Given the description of an element on the screen output the (x, y) to click on. 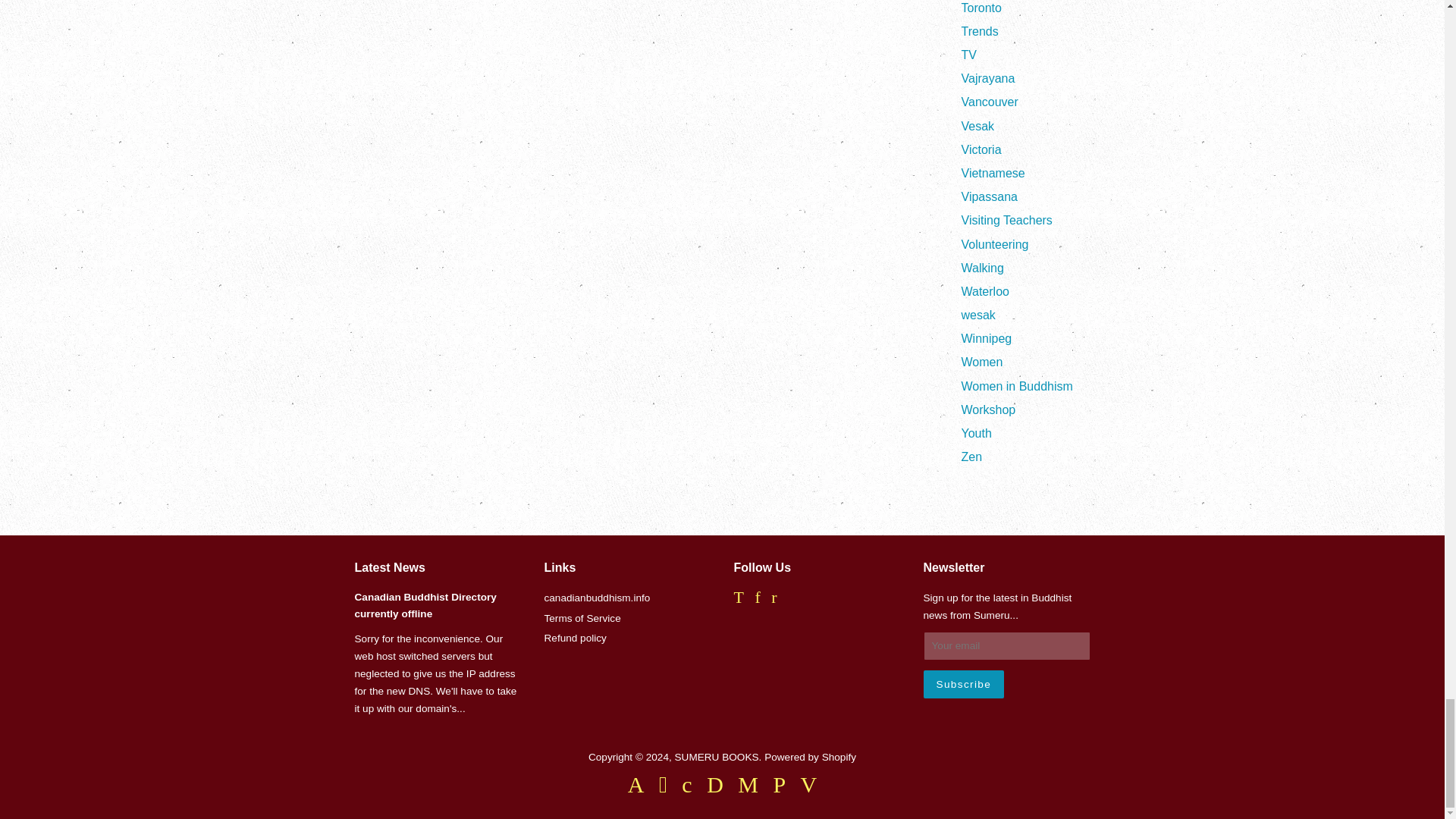
Subscribe (963, 684)
